Given the description of an element on the screen output the (x, y) to click on. 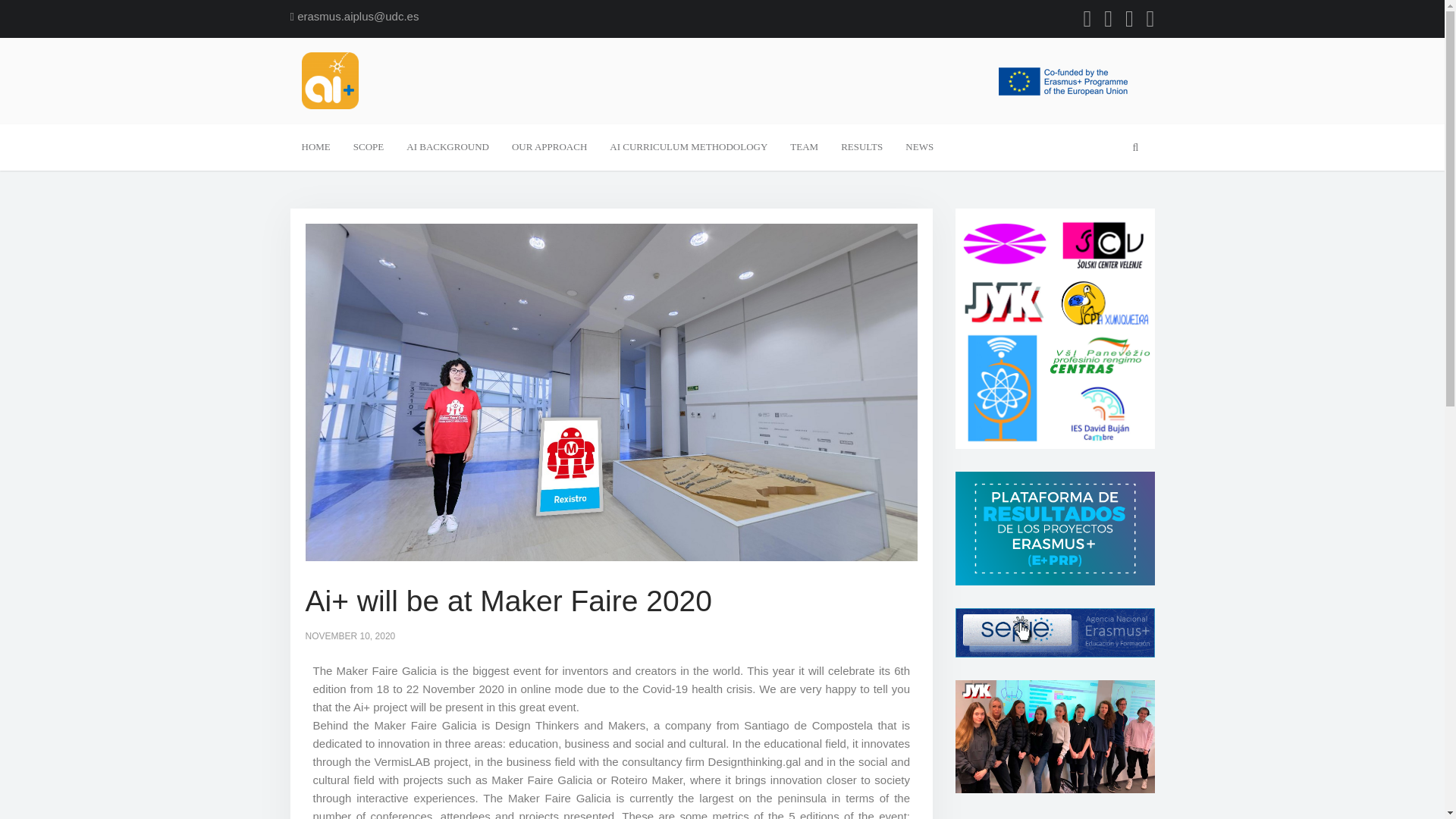
RESULTS (861, 147)
AI BACKGROUND (447, 147)
AI CURRICULUM METHODOLOGY (688, 147)
TEAM (803, 147)
SCOPE (368, 147)
OUR APPROACH (549, 147)
NEWS (918, 147)
HOME (314, 147)
